Given the description of an element on the screen output the (x, y) to click on. 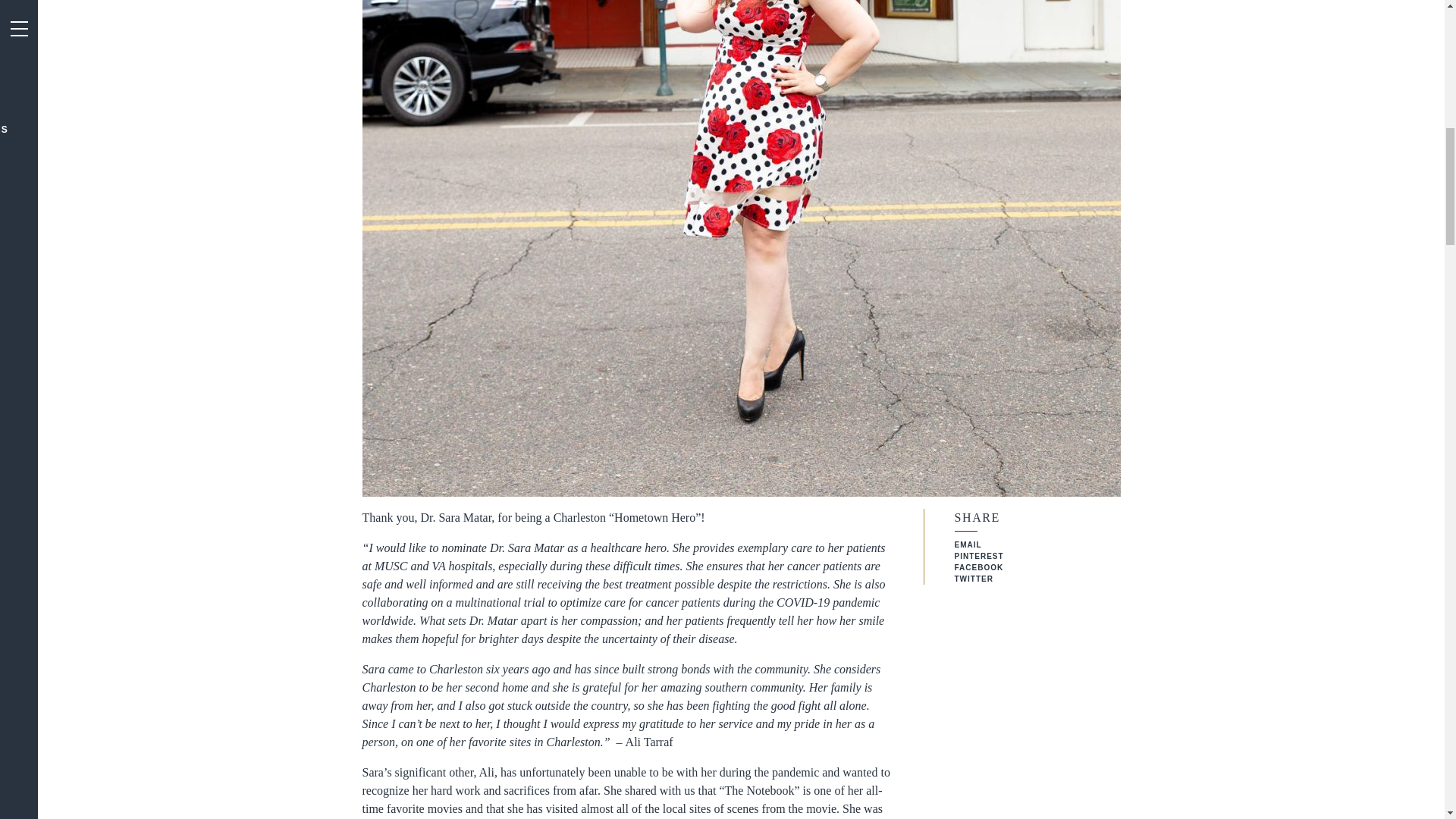
EMAIL (967, 544)
PINTEREST (978, 556)
TWITTER (972, 578)
FACEBOOK (978, 567)
